Given the description of an element on the screen output the (x, y) to click on. 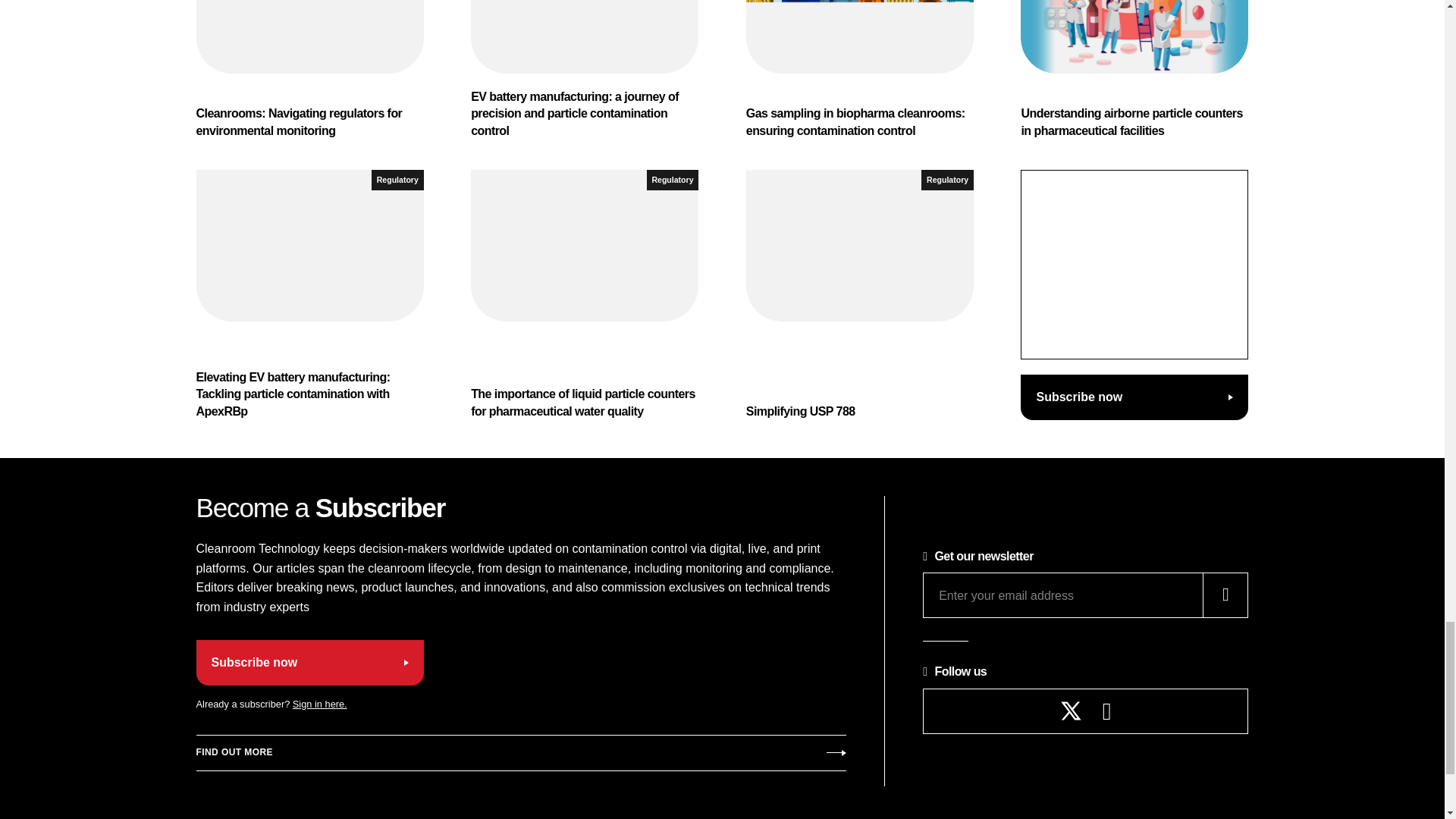
Subscribe (520, 752)
Follow Cleanroom Technology on X (1070, 710)
